Given the description of an element on the screen output the (x, y) to click on. 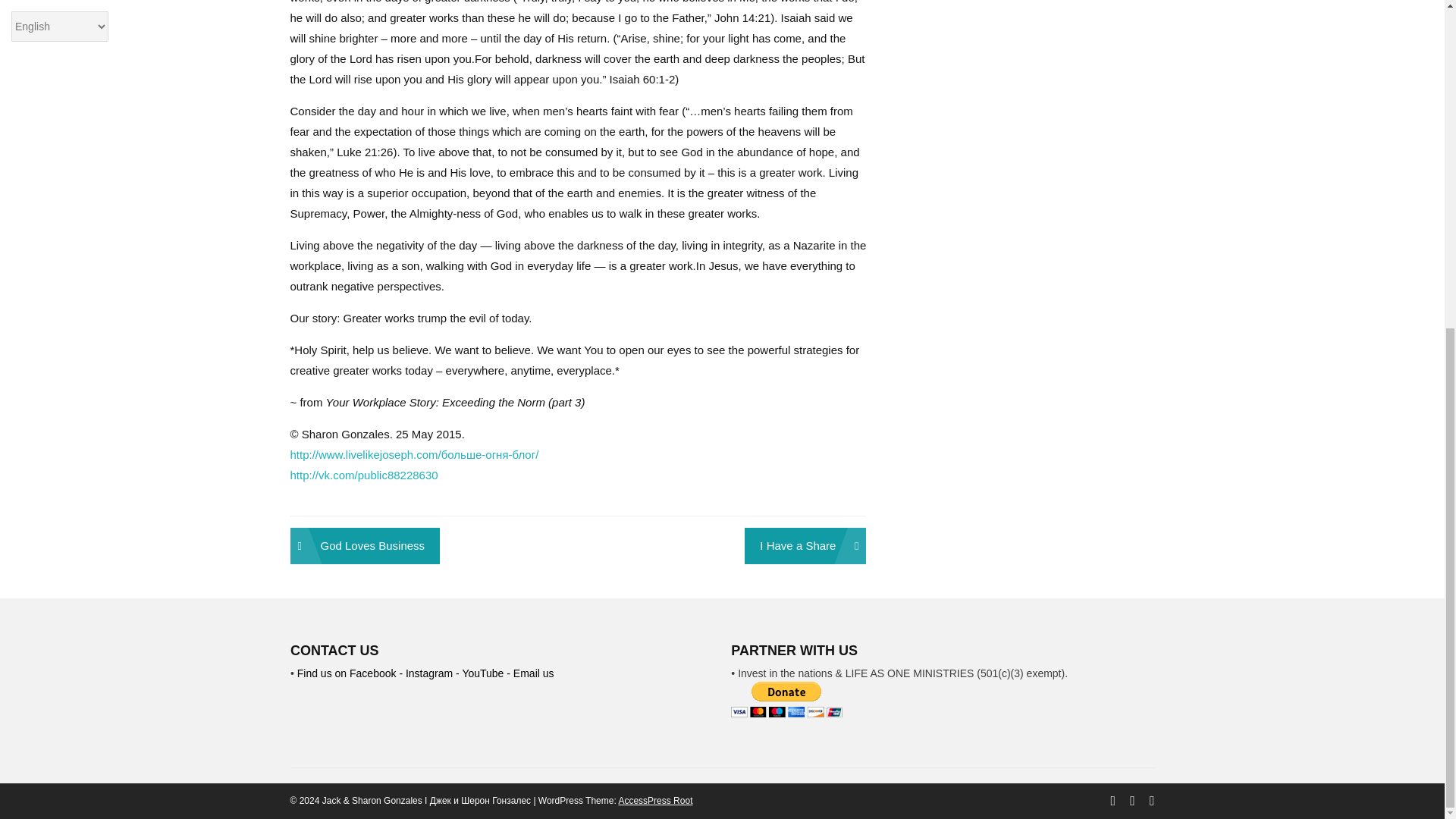
Instagram - (433, 673)
Email us (533, 673)
YouTube - (486, 673)
Find us on Facebook - (351, 673)
I Have a Share (805, 545)
AccessPress Themes (655, 800)
AccessPress Root (655, 800)
God Loves Business (364, 545)
